Given the description of an element on the screen output the (x, y) to click on. 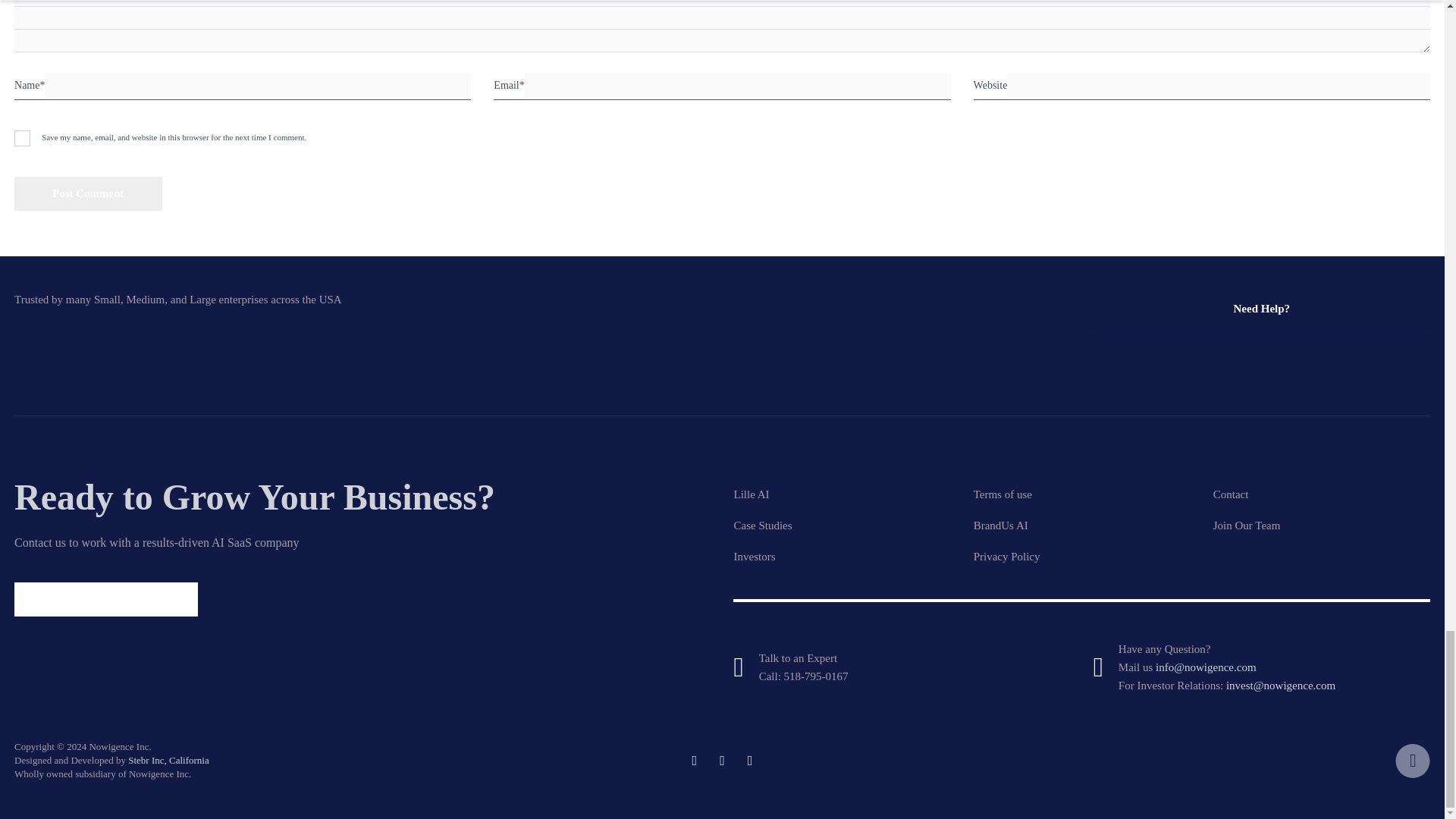
yes (22, 138)
Post Comment (87, 193)
